Given the description of an element on the screen output the (x, y) to click on. 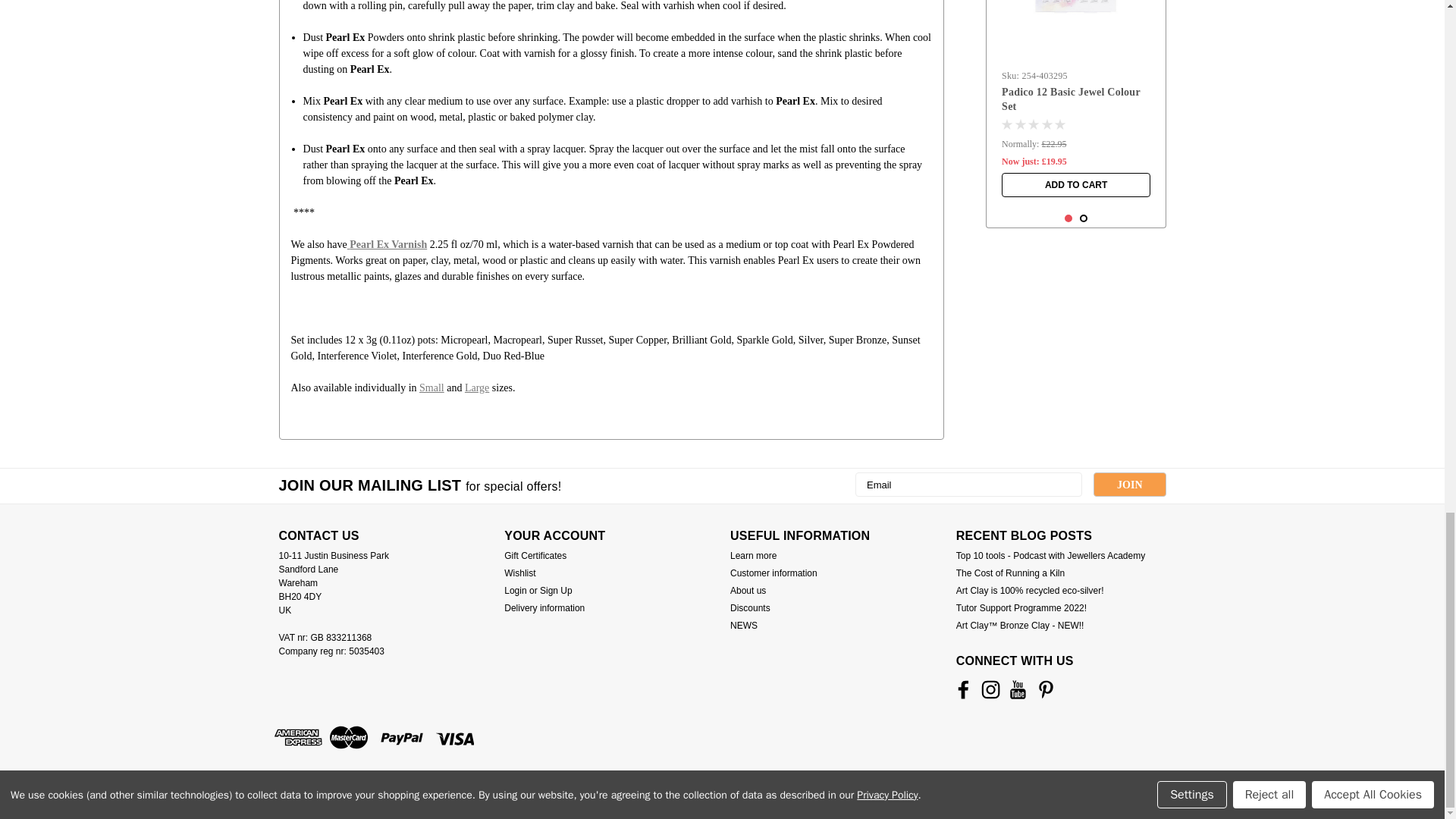
Join (1129, 484)
